Given the description of an element on the screen output the (x, y) to click on. 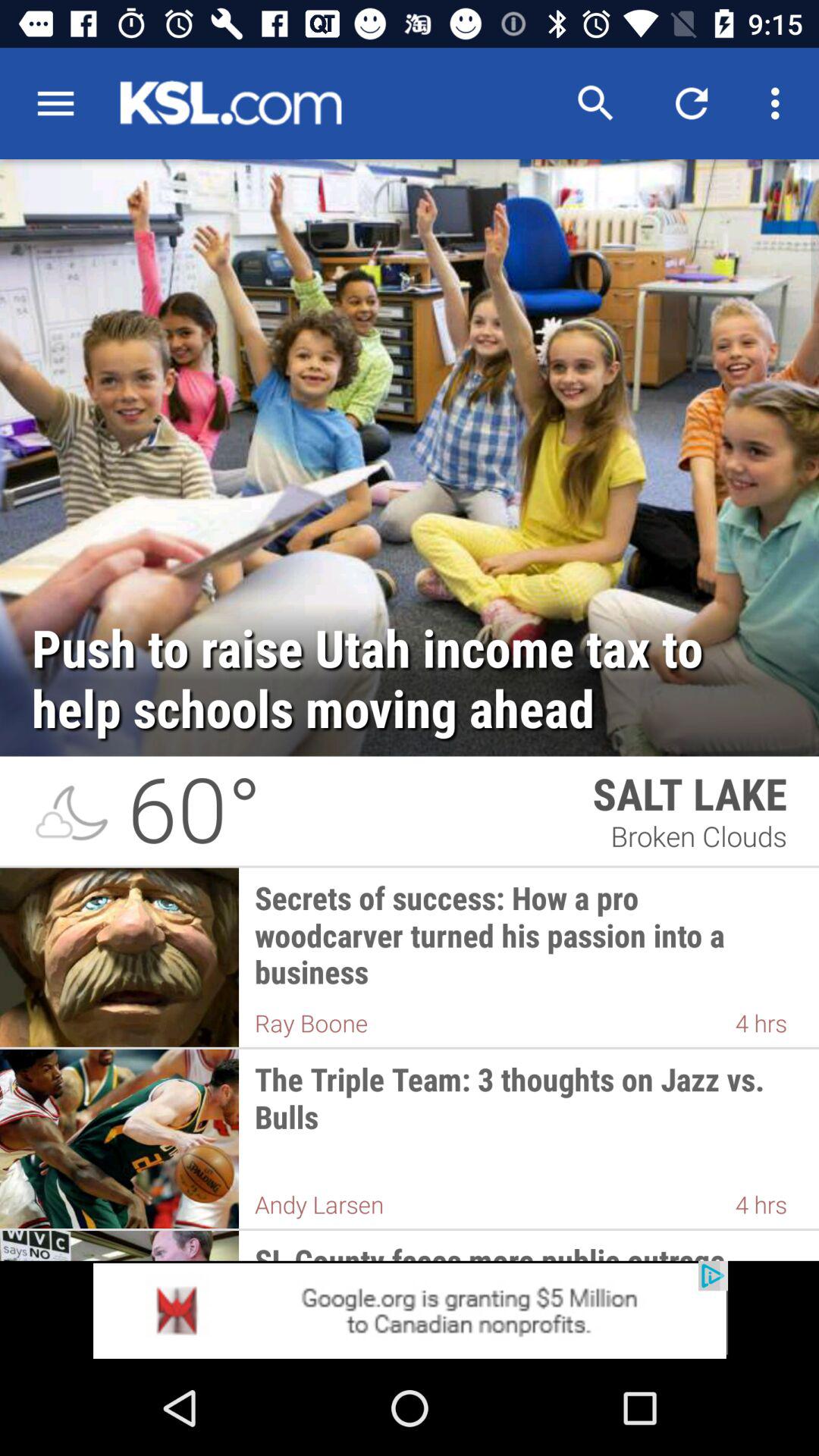
view advertisement in new app (409, 1310)
